Given the description of an element on the screen output the (x, y) to click on. 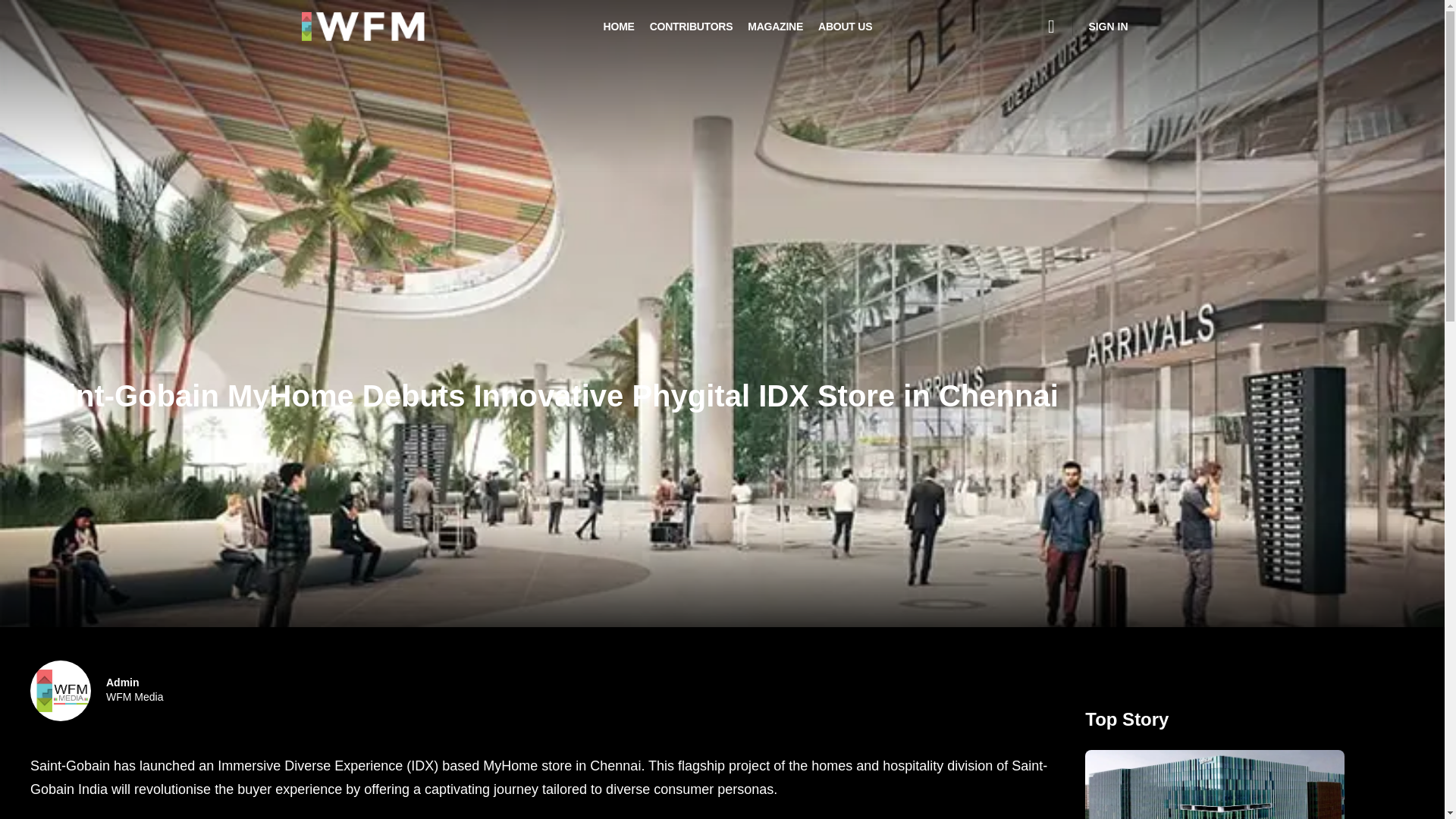
MAGAZINE (775, 26)
CONTRIBUTORS (691, 26)
ABOUT US (845, 26)
SIGN IN (134, 690)
